Given the description of an element on the screen output the (x, y) to click on. 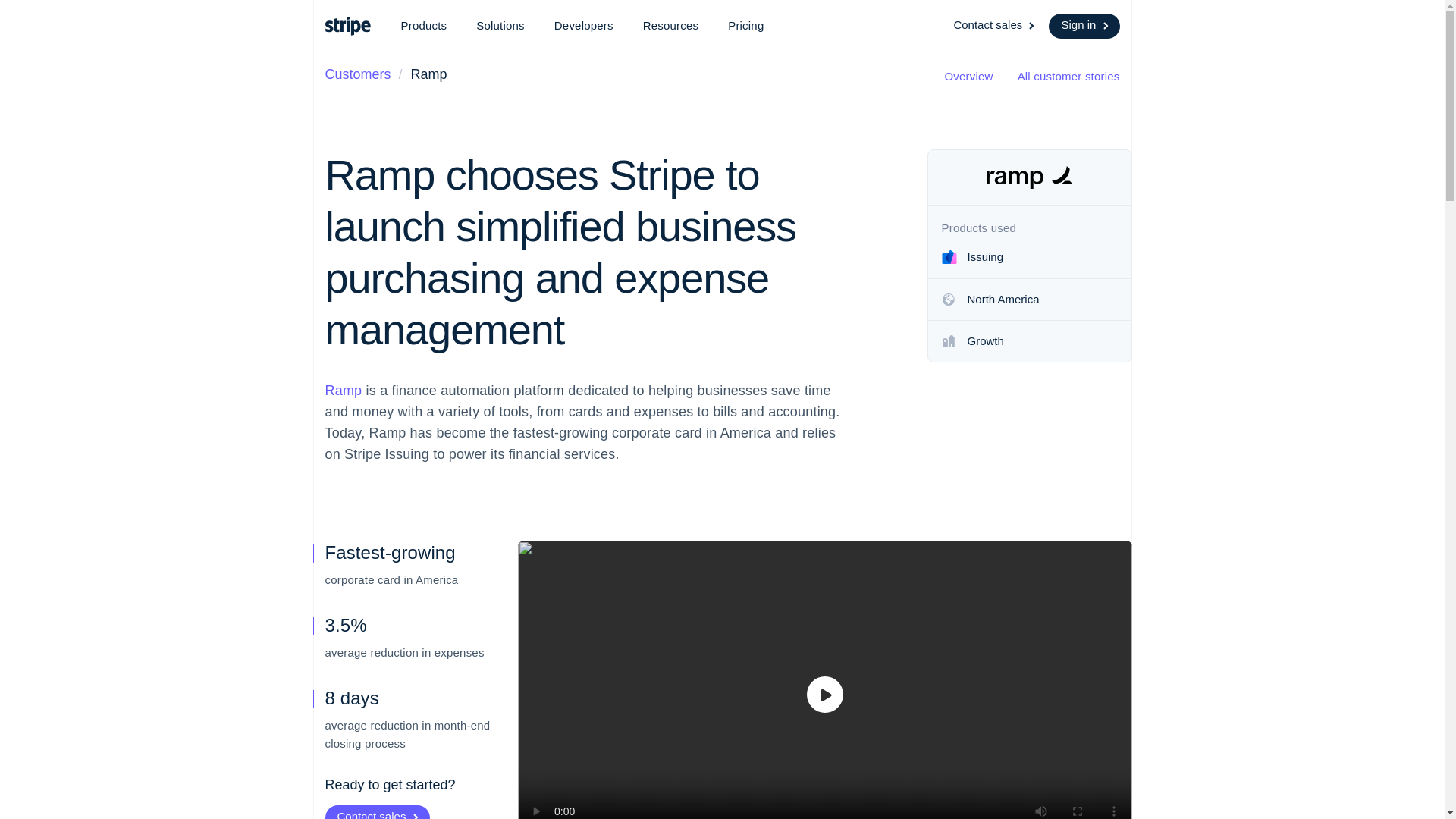
Pricing (745, 25)
Resources (670, 25)
Developers (583, 25)
Solutions (500, 25)
Contact sales  (994, 25)
Products (423, 25)
Sign in  (1083, 25)
